Given the description of an element on the screen output the (x, y) to click on. 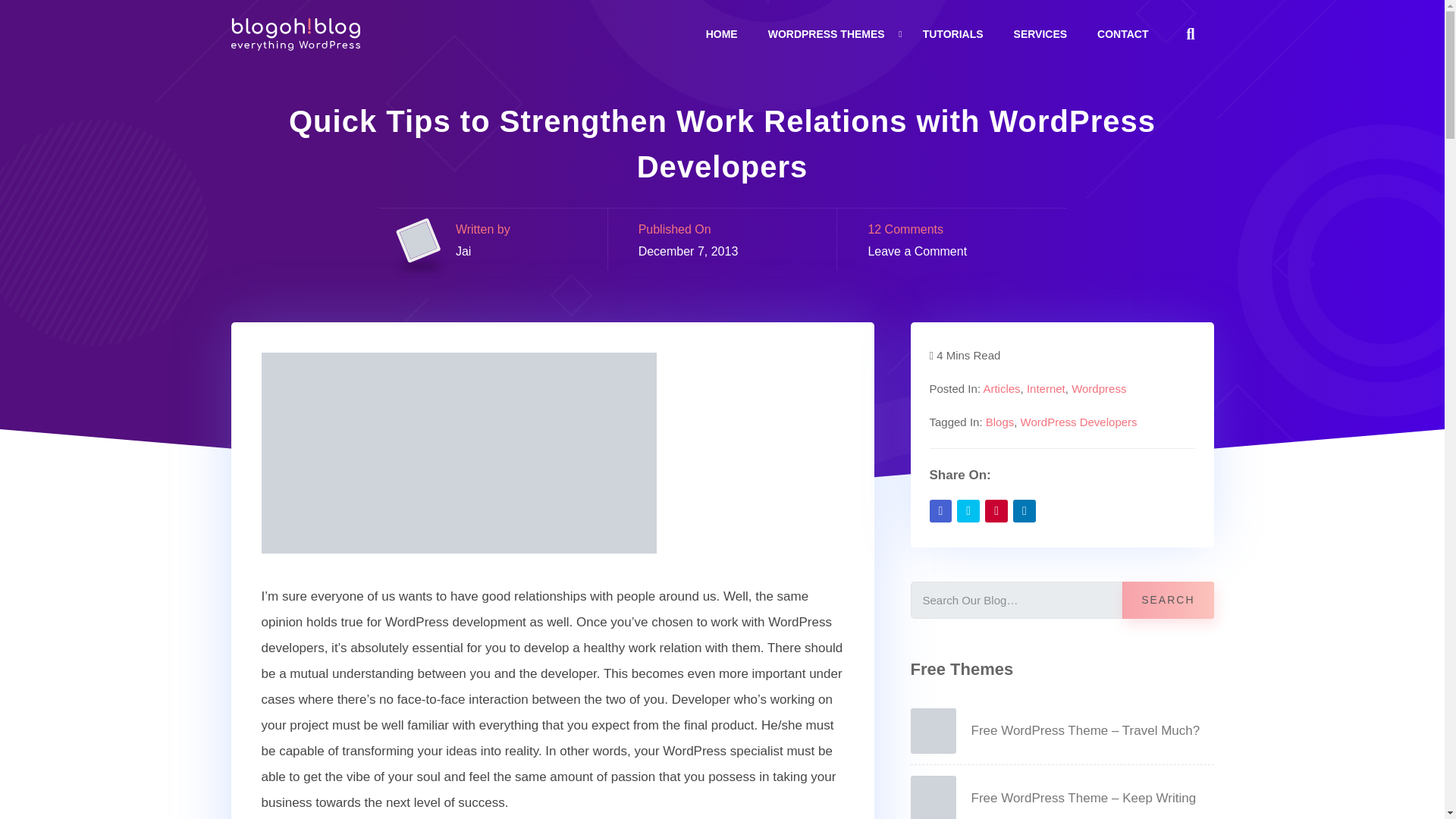
WORDPRESS THEMES (826, 33)
CONTACT (1122, 33)
SERVICES (1040, 33)
Jai (462, 250)
Leave a Comment (916, 250)
TUTORIALS (953, 33)
HOME (722, 33)
